Given the description of an element on the screen output the (x, y) to click on. 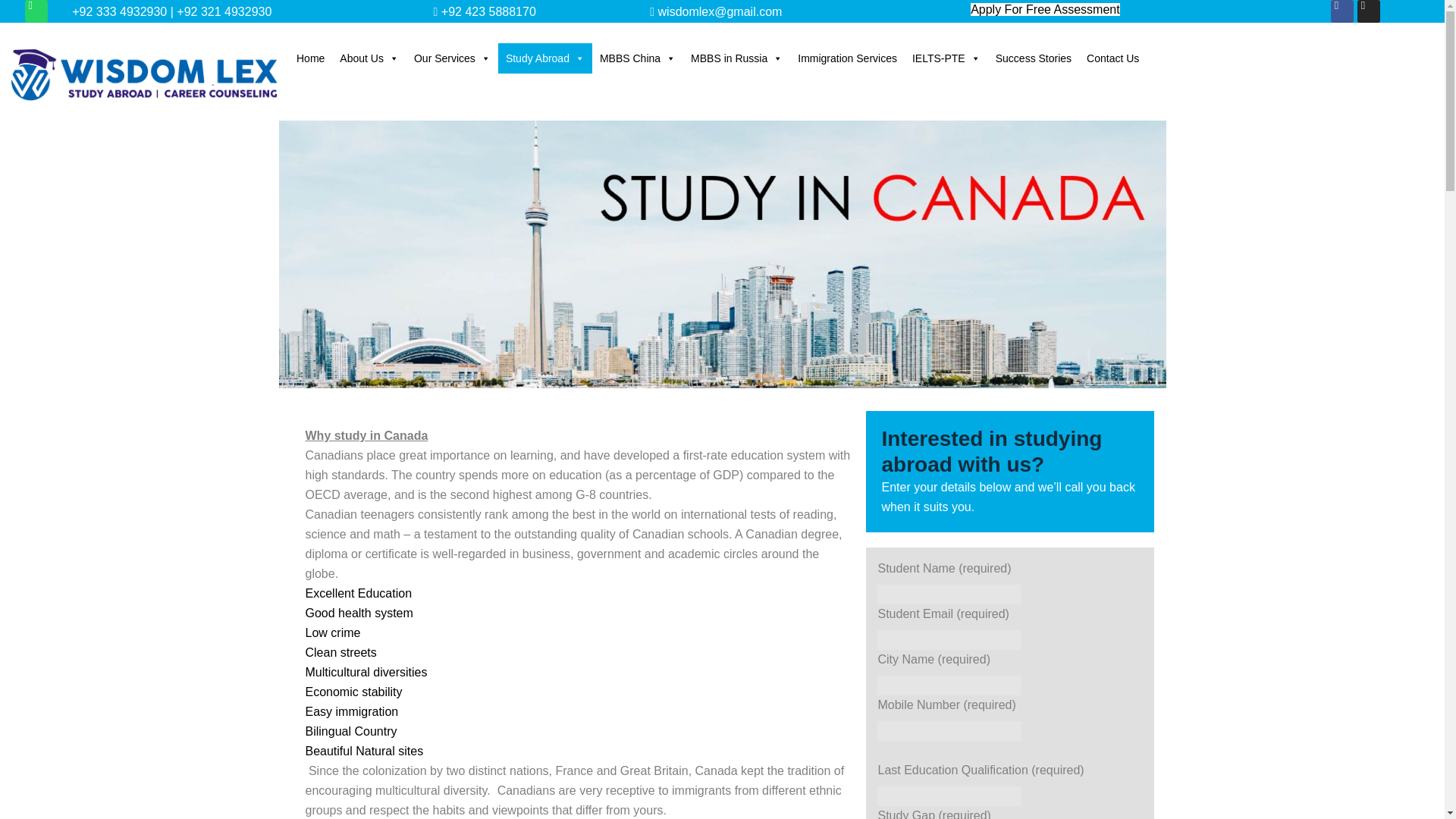
Study Abroad (544, 58)
Apply For Free Assessment (1045, 9)
Home (309, 58)
Our Services (451, 58)
About Us (368, 58)
MBBS China (637, 58)
